Given the description of an element on the screen output the (x, y) to click on. 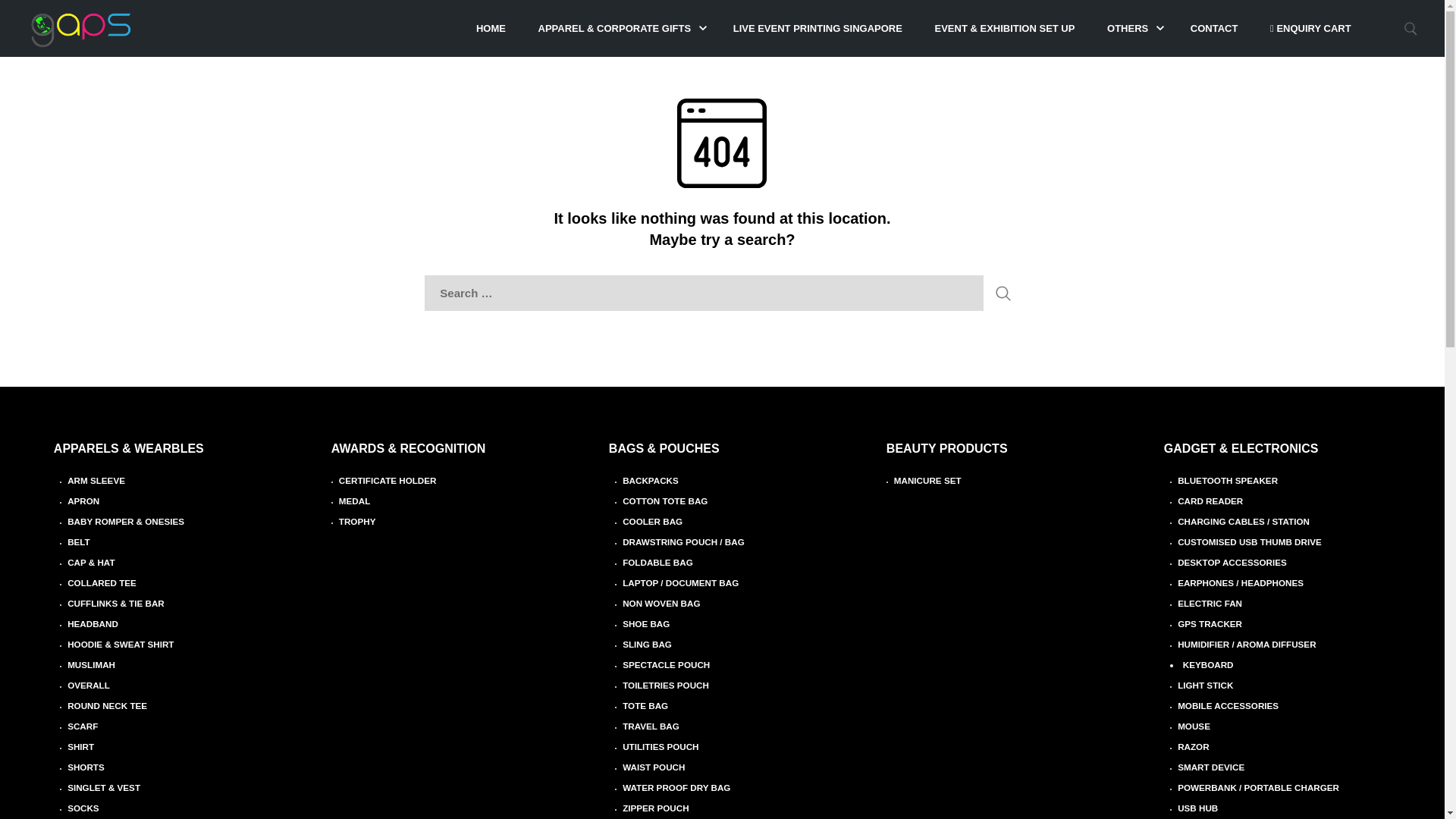
OTHERS (1127, 29)
Search (1003, 293)
CONTACT (1213, 29)
